Given the description of an element on the screen output the (x, y) to click on. 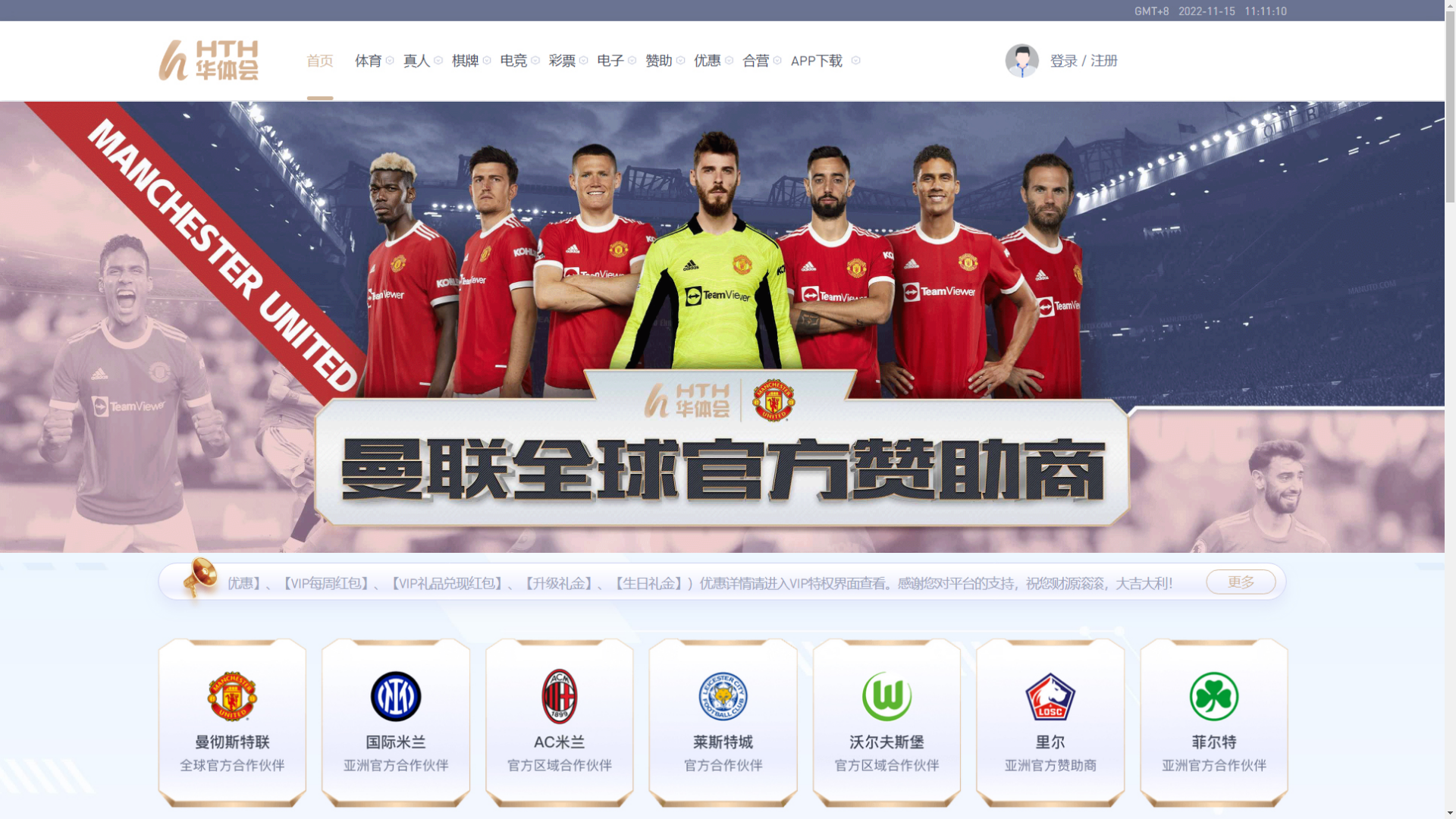
1B46SDSSHEVE Element type: text (1173, 329)
0
$ 0.00 Element type: text (1189, 28)
Quick Order Element type: hover (1055, 28)
